Given the description of an element on the screen output the (x, y) to click on. 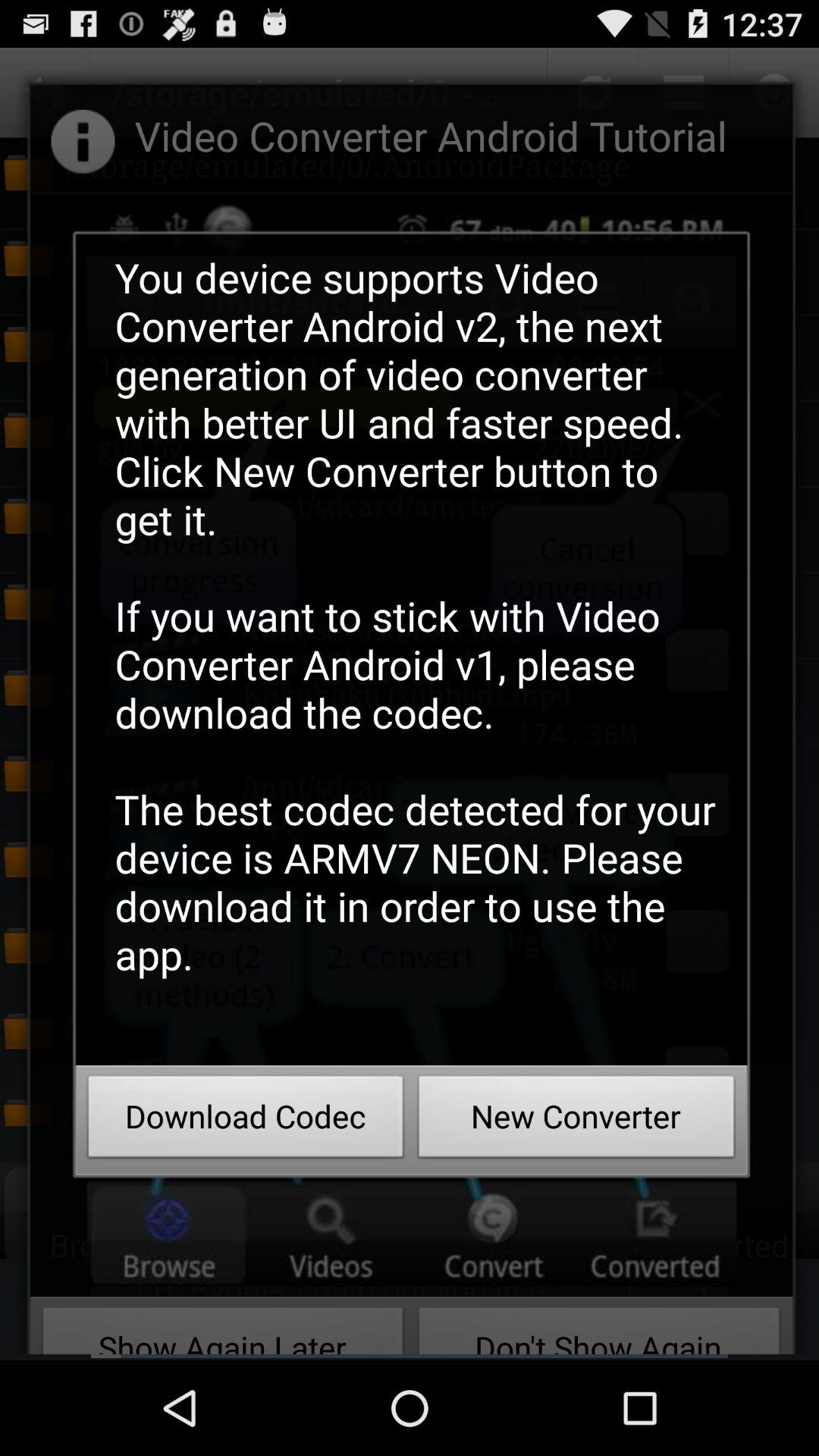
choose button to the left of the new converter icon (245, 1120)
